Given the description of an element on the screen output the (x, y) to click on. 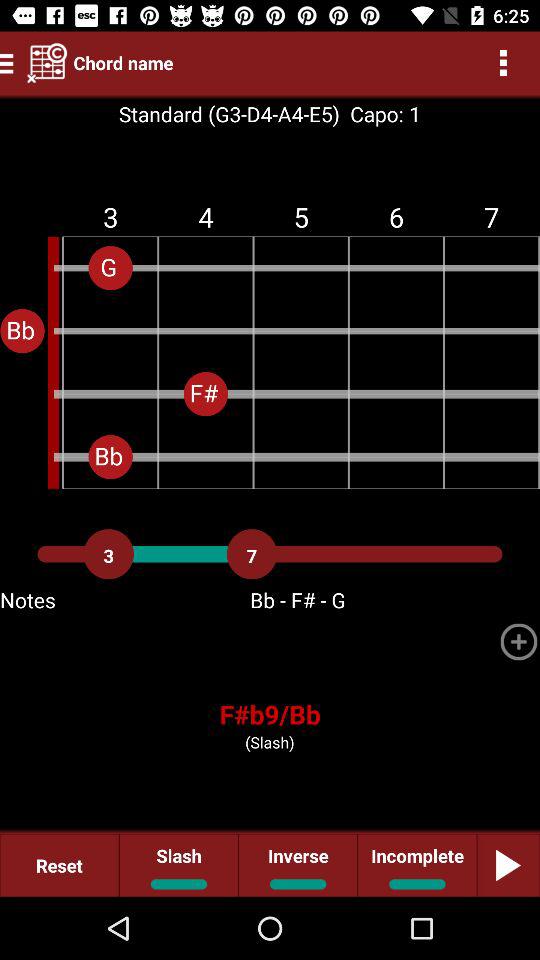
press inverse item (297, 864)
